Given the description of an element on the screen output the (x, y) to click on. 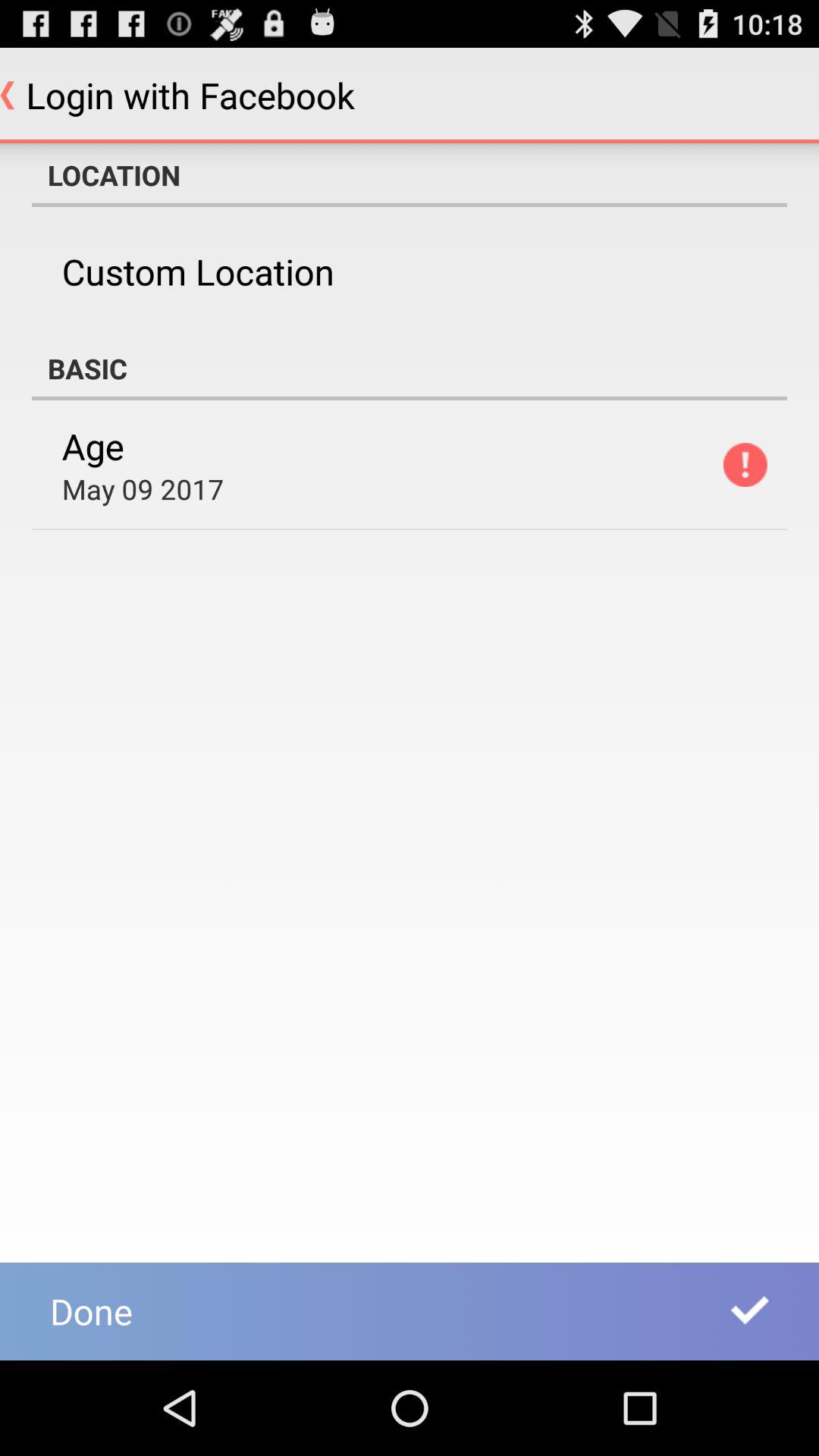
choose may 09 2017 on the left (142, 488)
